Given the description of an element on the screen output the (x, y) to click on. 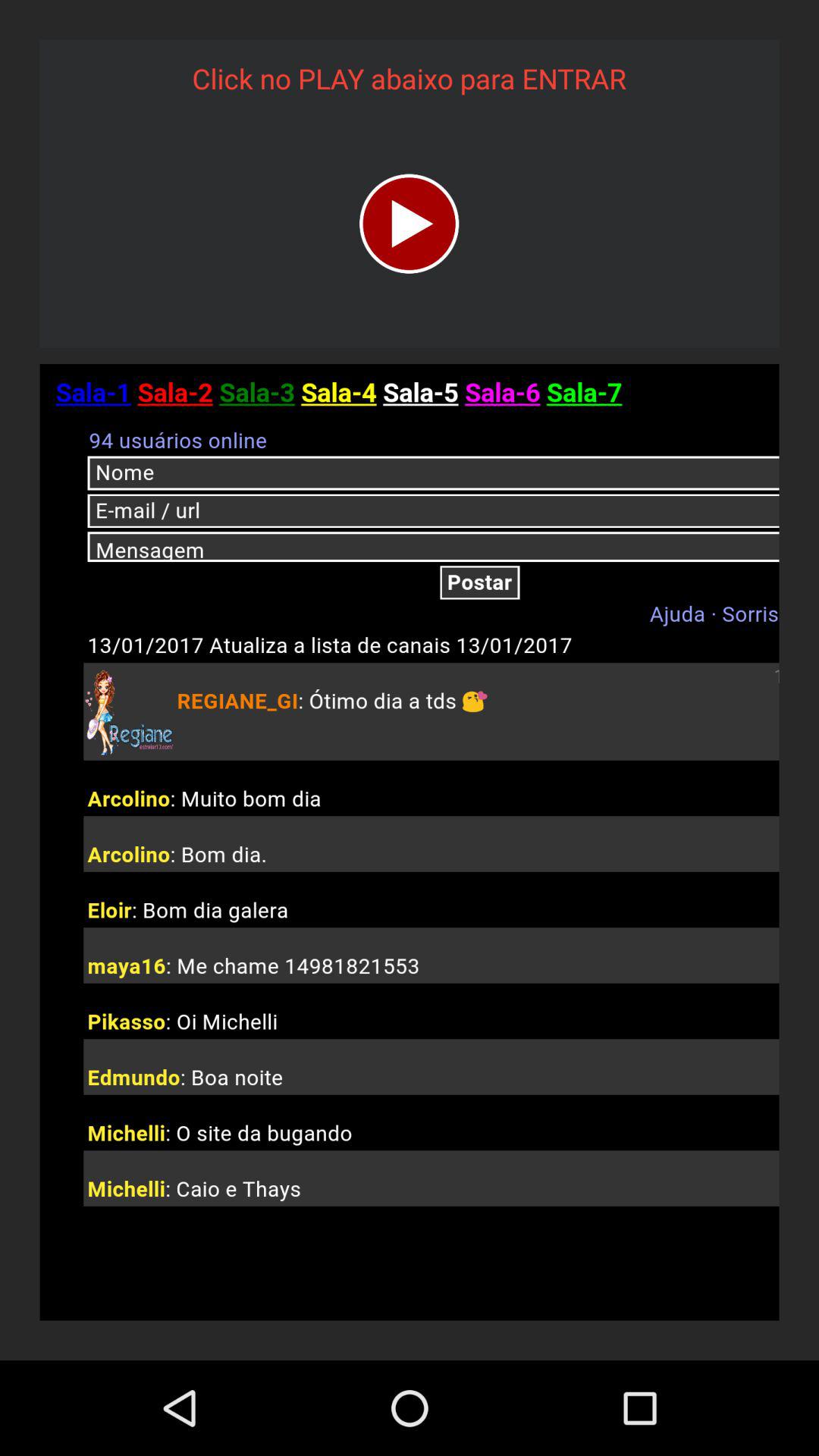
play video (408, 223)
